Given the description of an element on the screen output the (x, y) to click on. 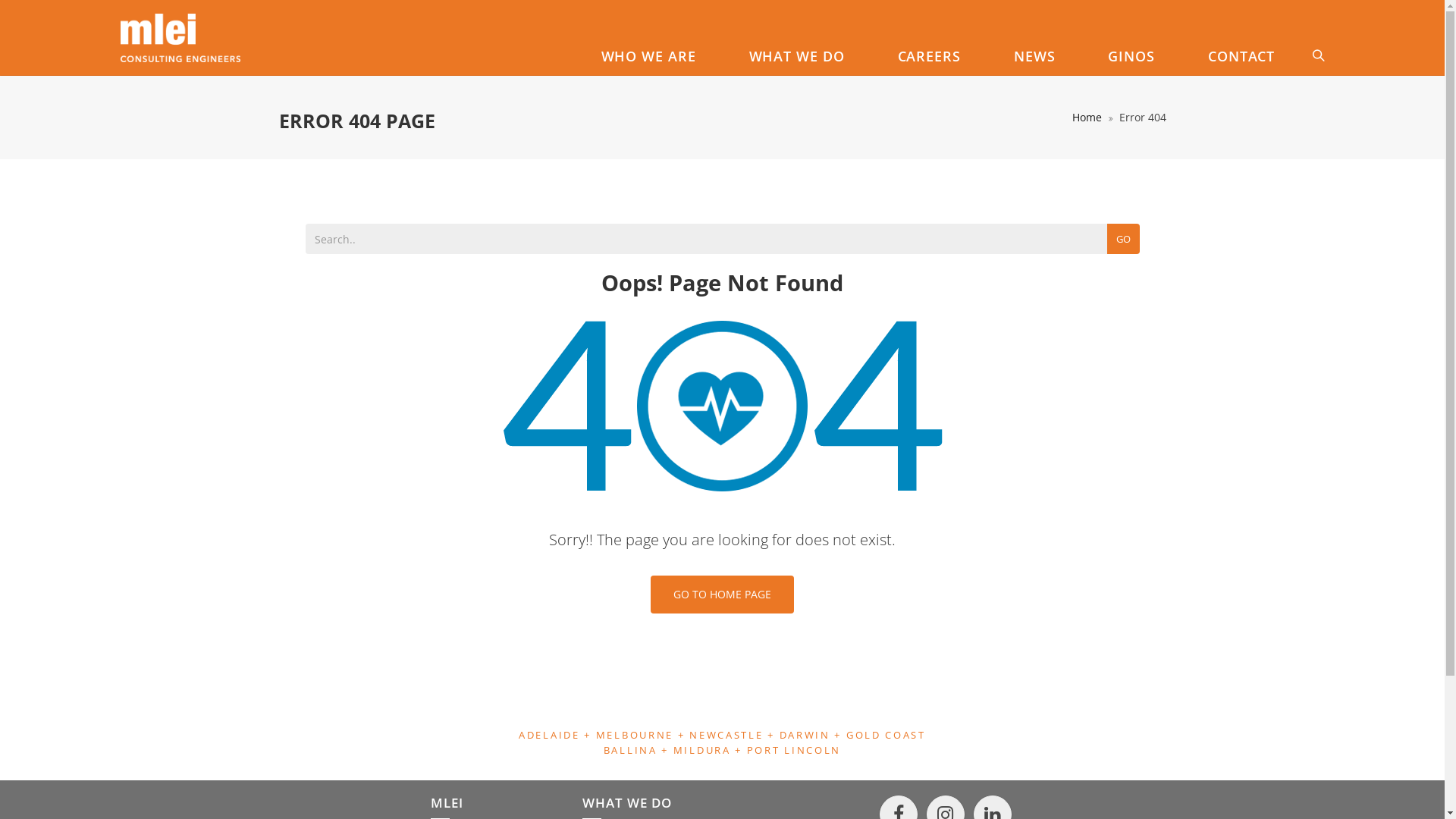
CONTACT Element type: text (1241, 56)
Home Element type: text (1086, 116)
MLEI Consulting Engineers -  Element type: hover (180, 37)
CAREERS Element type: text (929, 56)
GO Element type: text (1123, 238)
NEWS Element type: text (1034, 56)
GINOS Element type: text (1131, 56)
WHO WE ARE Element type: text (648, 56)
GO TO HOME PAGE Element type: text (721, 594)
WHAT WE DO Element type: text (796, 56)
